Given the description of an element on the screen output the (x, y) to click on. 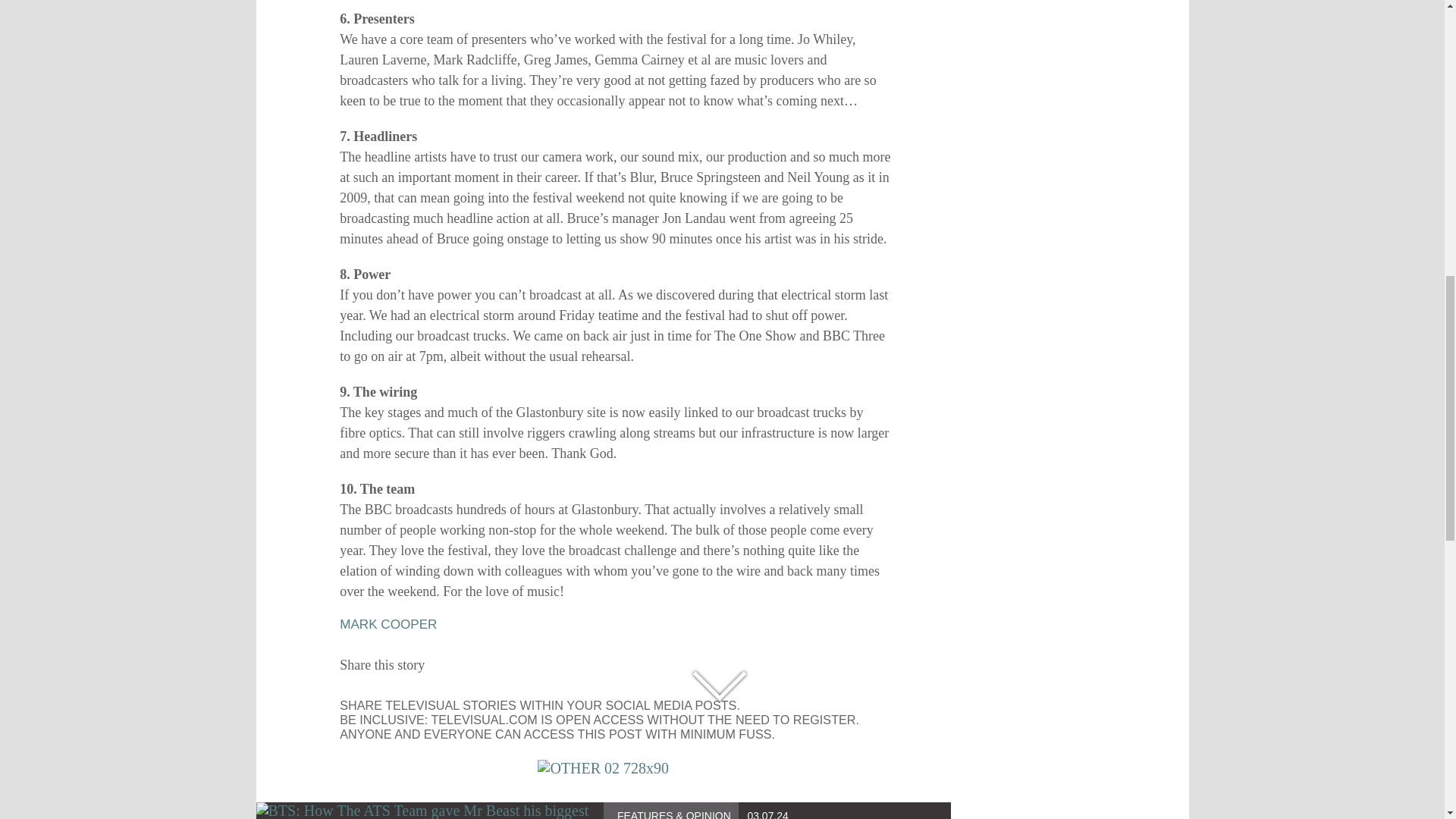
MARK COOPER (387, 624)
